Given the description of an element on the screen output the (x, y) to click on. 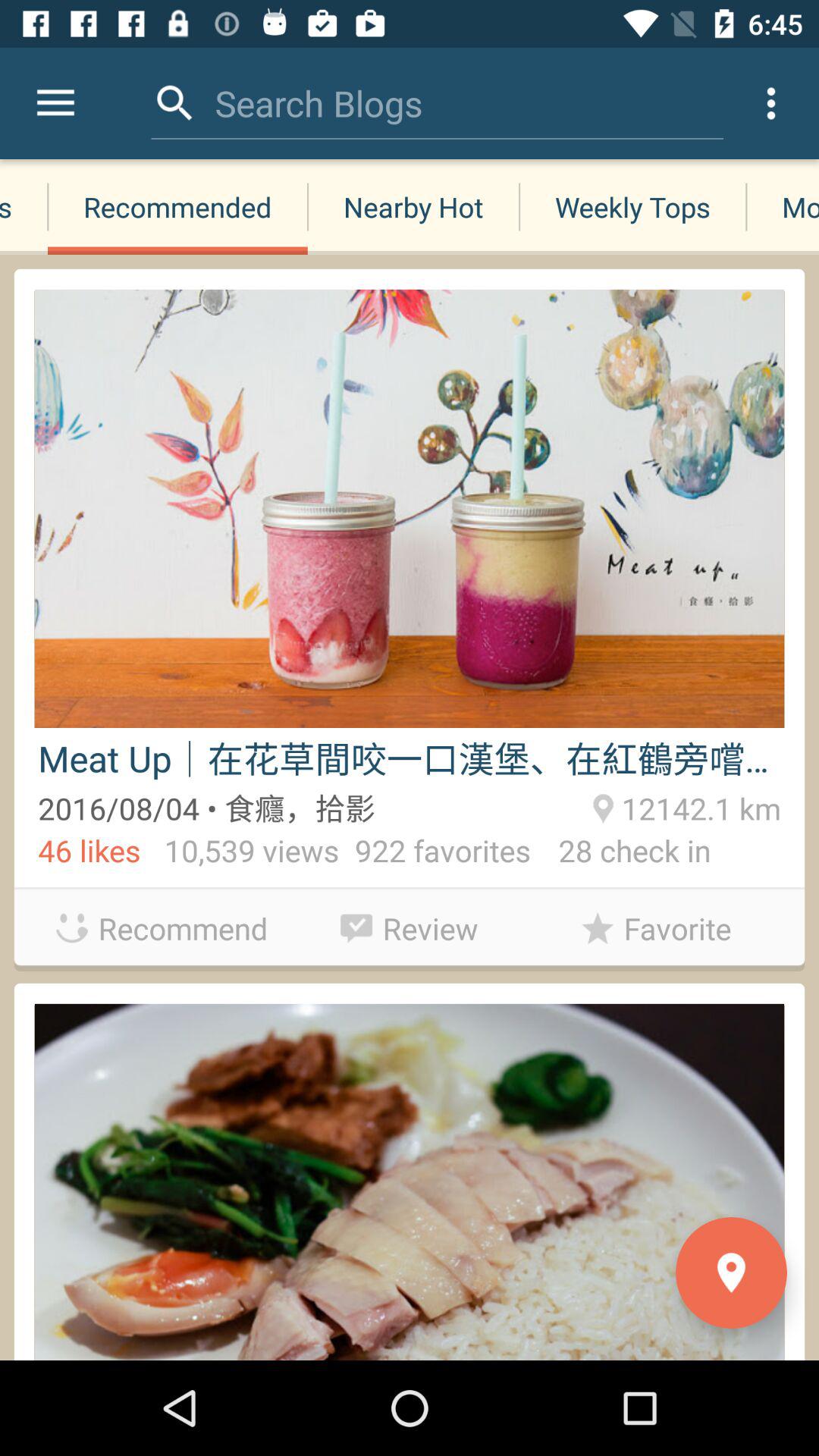
press item next to the recommended icon (23, 206)
